Given the description of an element on the screen output the (x, y) to click on. 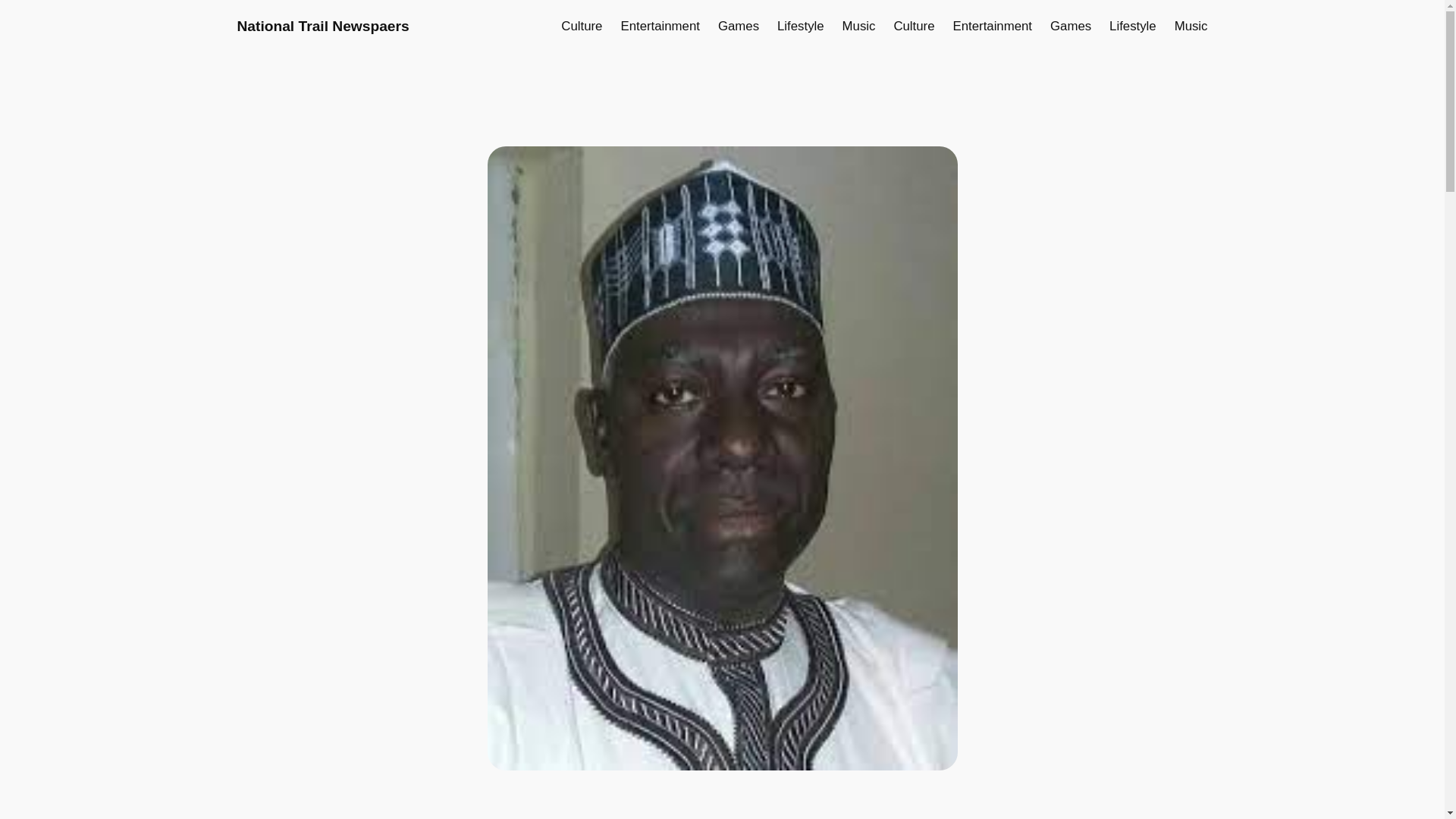
Games (1069, 26)
Entertainment (992, 26)
Culture (913, 26)
Music (859, 26)
National Trail Newspaers (322, 26)
Games (737, 26)
Lifestyle (1132, 26)
Lifestyle (800, 26)
Culture (581, 26)
Entertainment (659, 26)
